Given the description of an element on the screen output the (x, y) to click on. 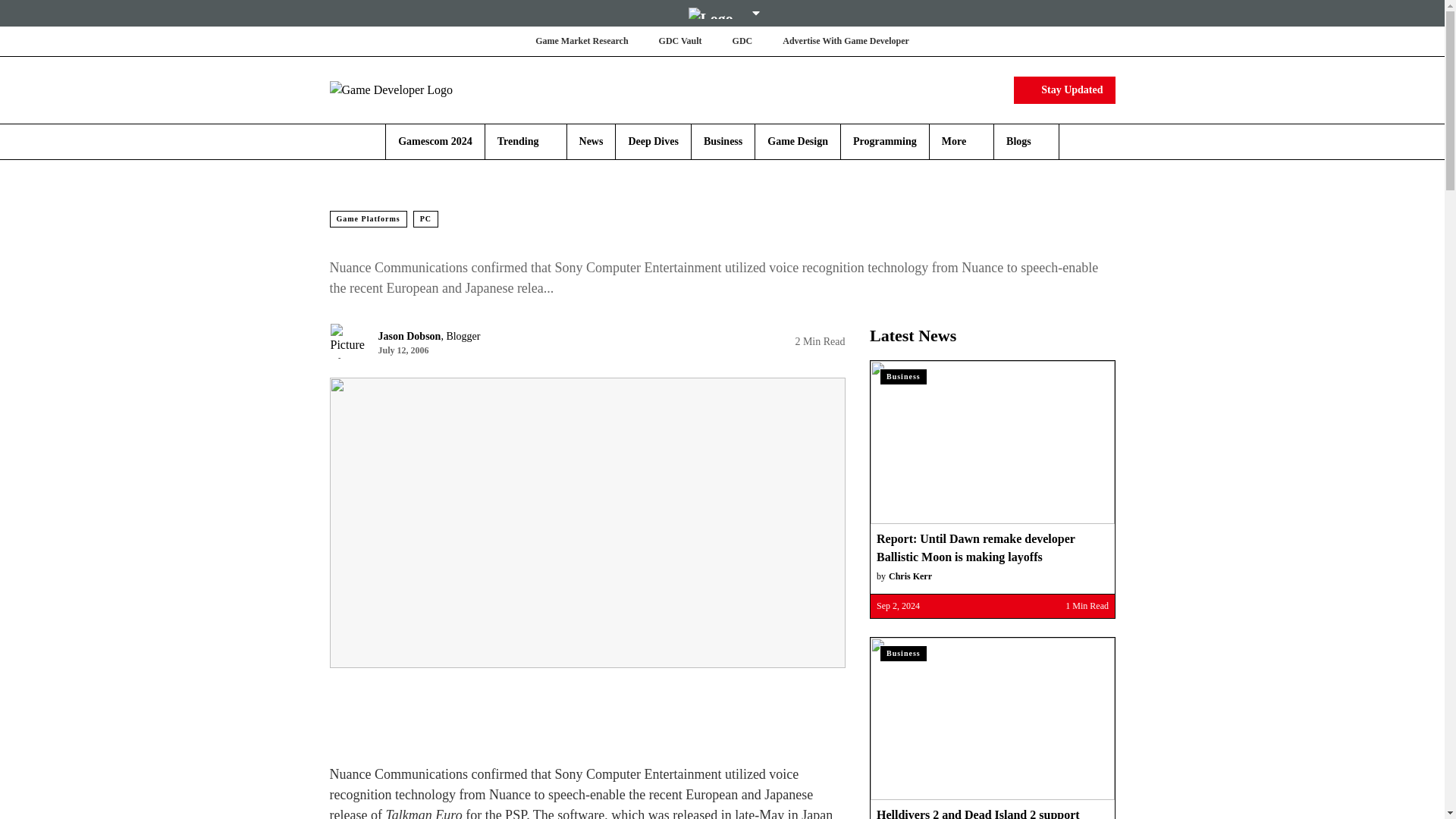
Picture of Jason Dobson (347, 340)
Gamescom 2024 (434, 141)
GDC (742, 41)
Game Market Research (581, 41)
Stay Updated (1064, 89)
Business (722, 141)
Programming (885, 141)
GDC Vault (680, 41)
Game Developer Logo (419, 90)
Deep Dives (652, 141)
